Given the description of an element on the screen output the (x, y) to click on. 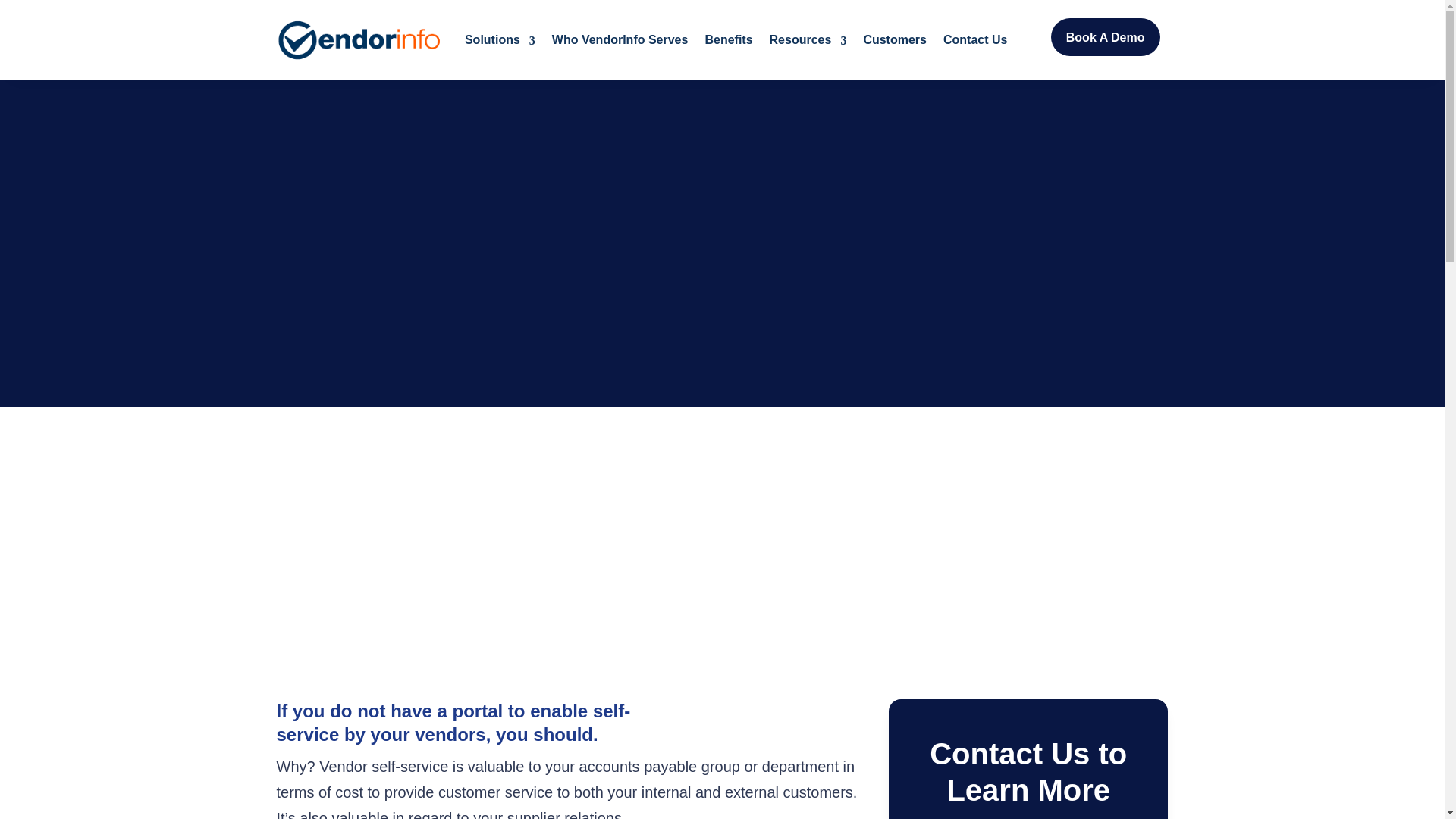
Solutions (499, 39)
Customers (894, 39)
Contact Us (975, 39)
Resources (808, 39)
Book A Demo (1105, 37)
Who VendorInfo Serves (619, 39)
